Given the description of an element on the screen output the (x, y) to click on. 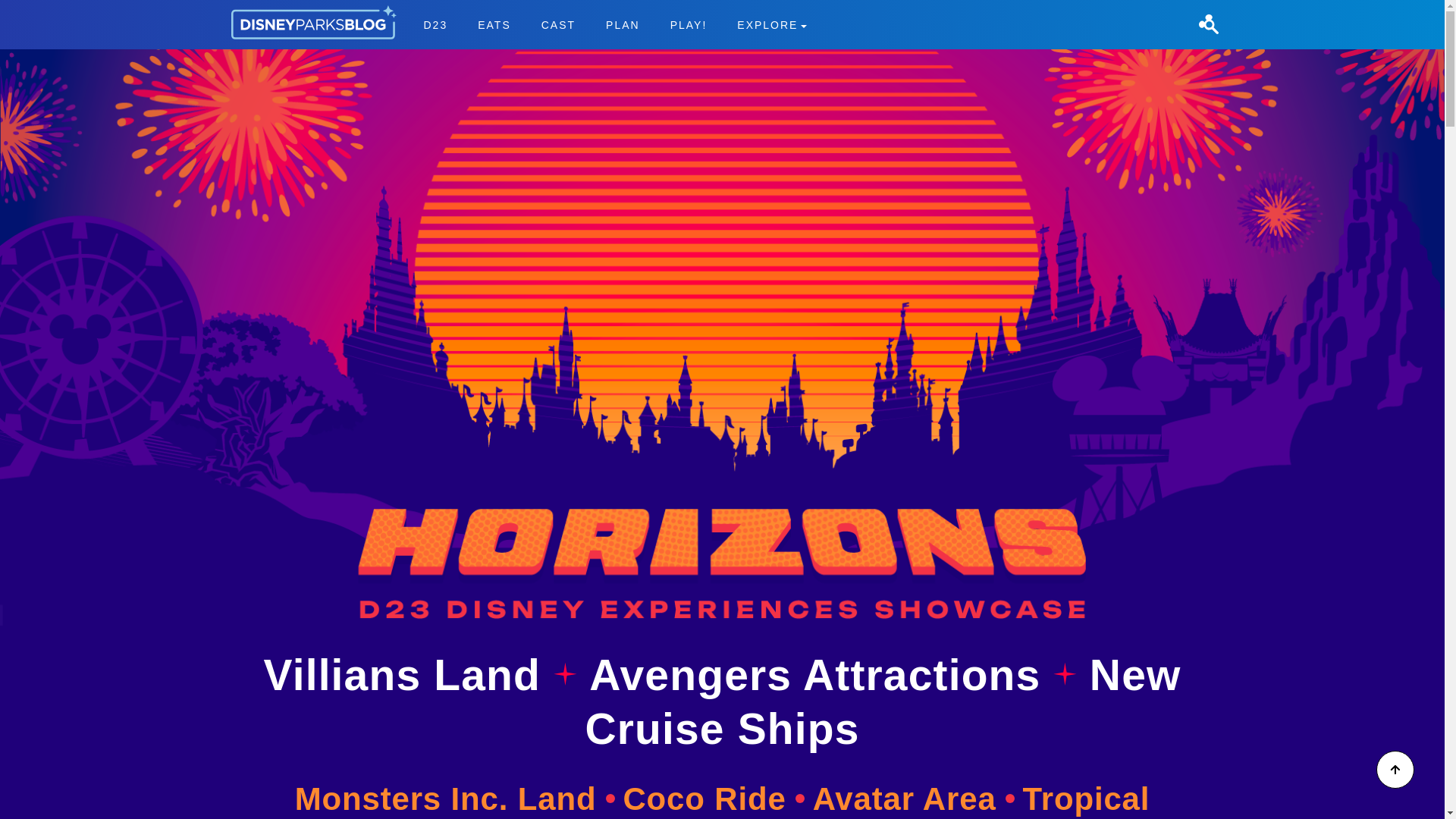
EATS (494, 23)
CAST (558, 23)
Skip to content (614, 23)
EXPLORE (40, 8)
PLAN (771, 23)
PLAY! (622, 23)
Villians Land (688, 23)
New Cruise Ships (408, 674)
D23 (882, 701)
